Given the description of an element on the screen output the (x, y) to click on. 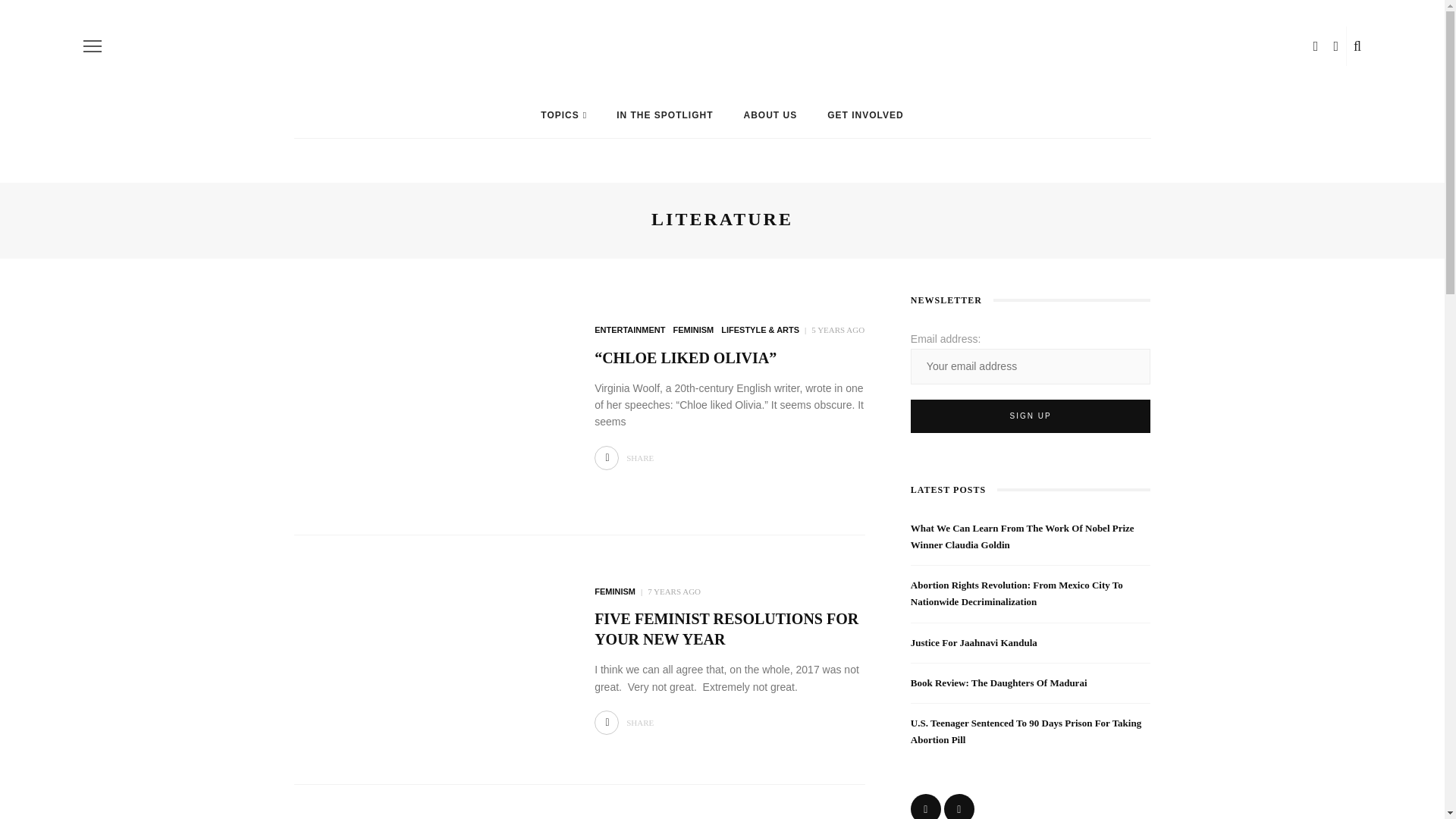
Search for: (1071, 12)
Five Feminist Resolutions For Your New Year (726, 628)
Instagram (978, 12)
GET INVOLVED (865, 115)
Five Feminist Resolutions For Your New Year (429, 654)
off canvas button (91, 45)
Twitter (966, 12)
IN THE SPOTLIGHT (664, 115)
ABOUT US (770, 115)
Sign up (1031, 416)
